Given the description of an element on the screen output the (x, y) to click on. 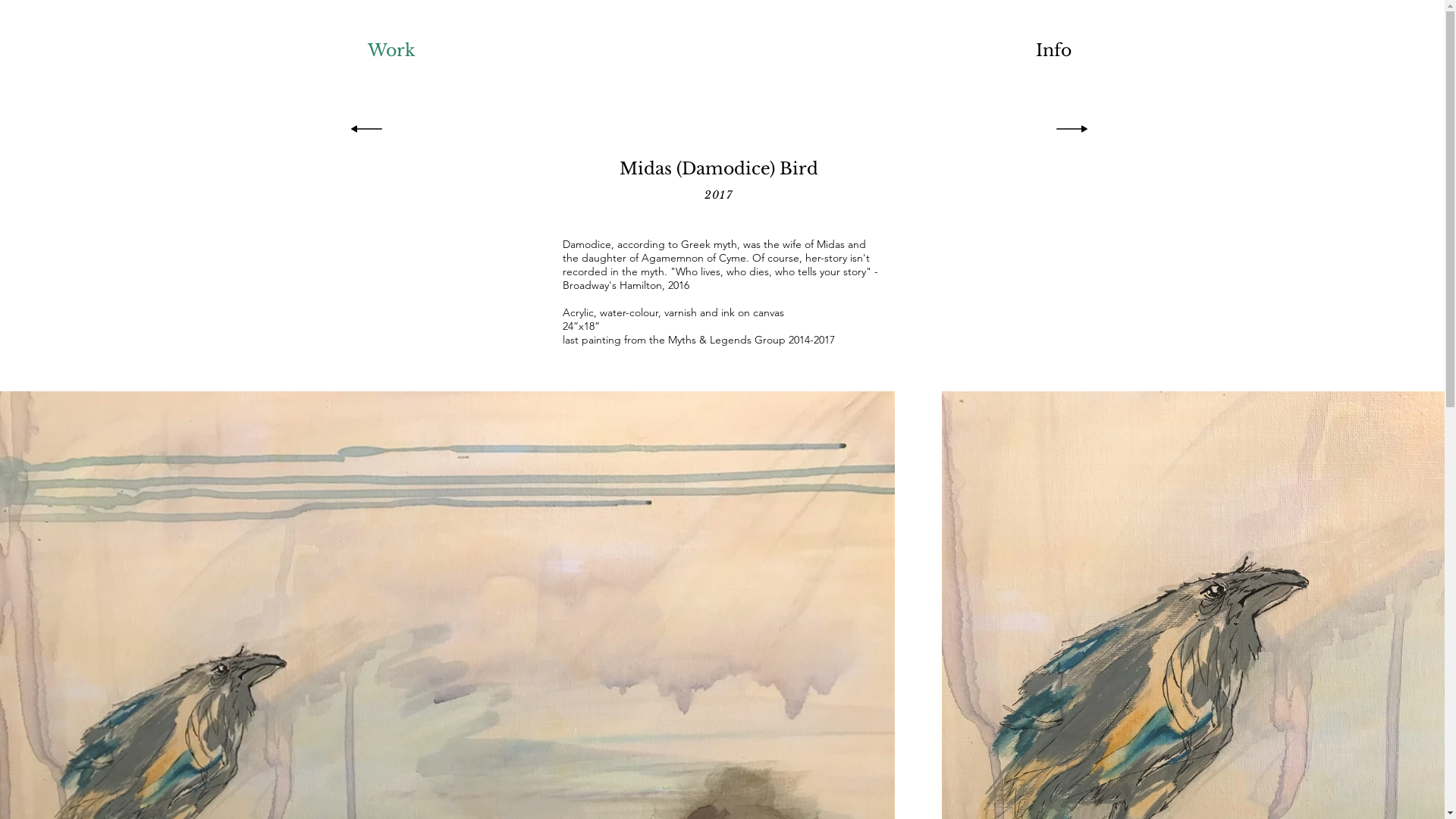
Info Element type: text (1052, 50)
Work Element type: text (391, 50)
